Given the description of an element on the screen output the (x, y) to click on. 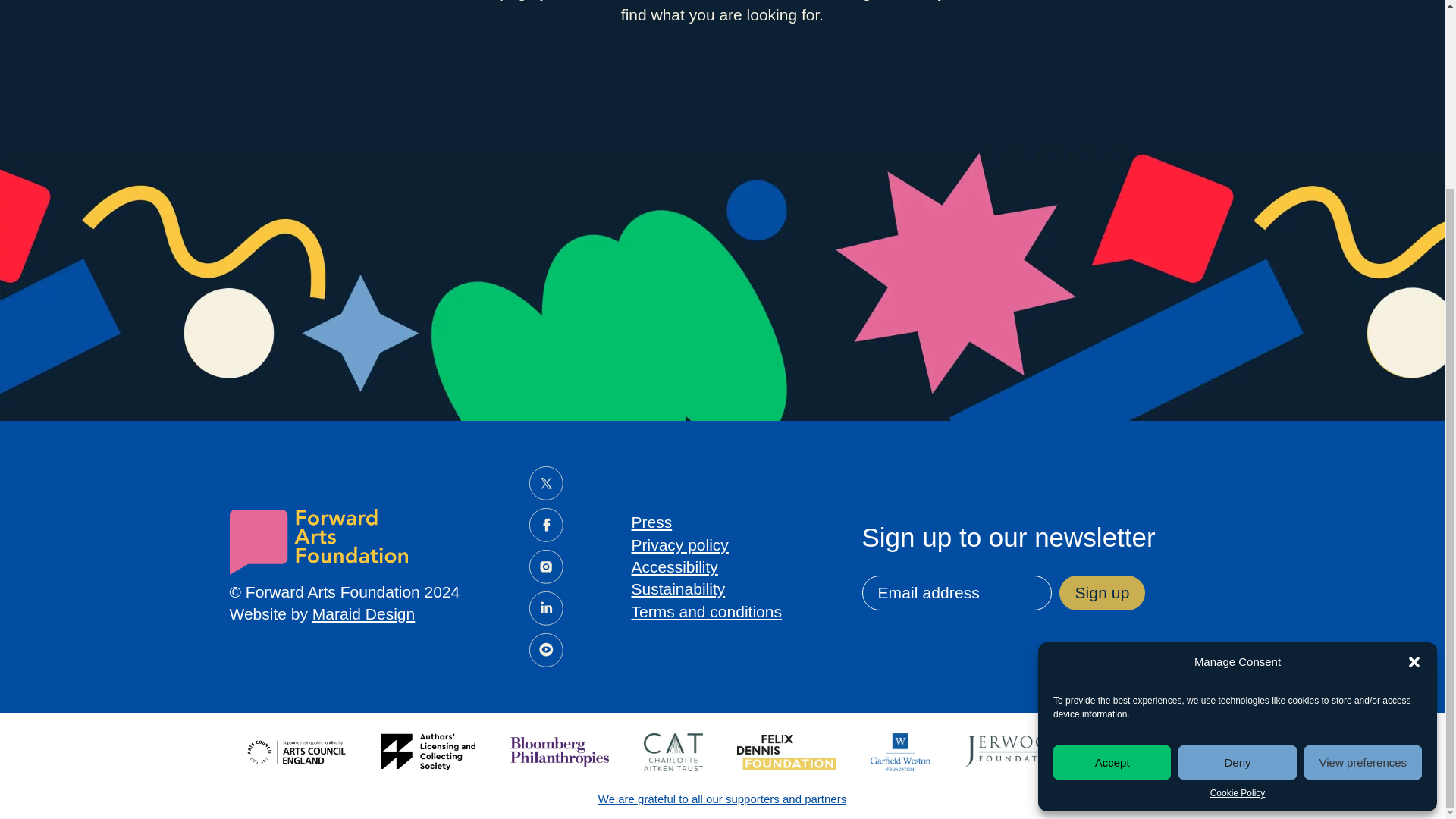
Sign up (1101, 592)
Deny (1236, 527)
View preferences (1363, 527)
Accept (1111, 527)
Cookie Policy (1237, 558)
